Given the description of an element on the screen output the (x, y) to click on. 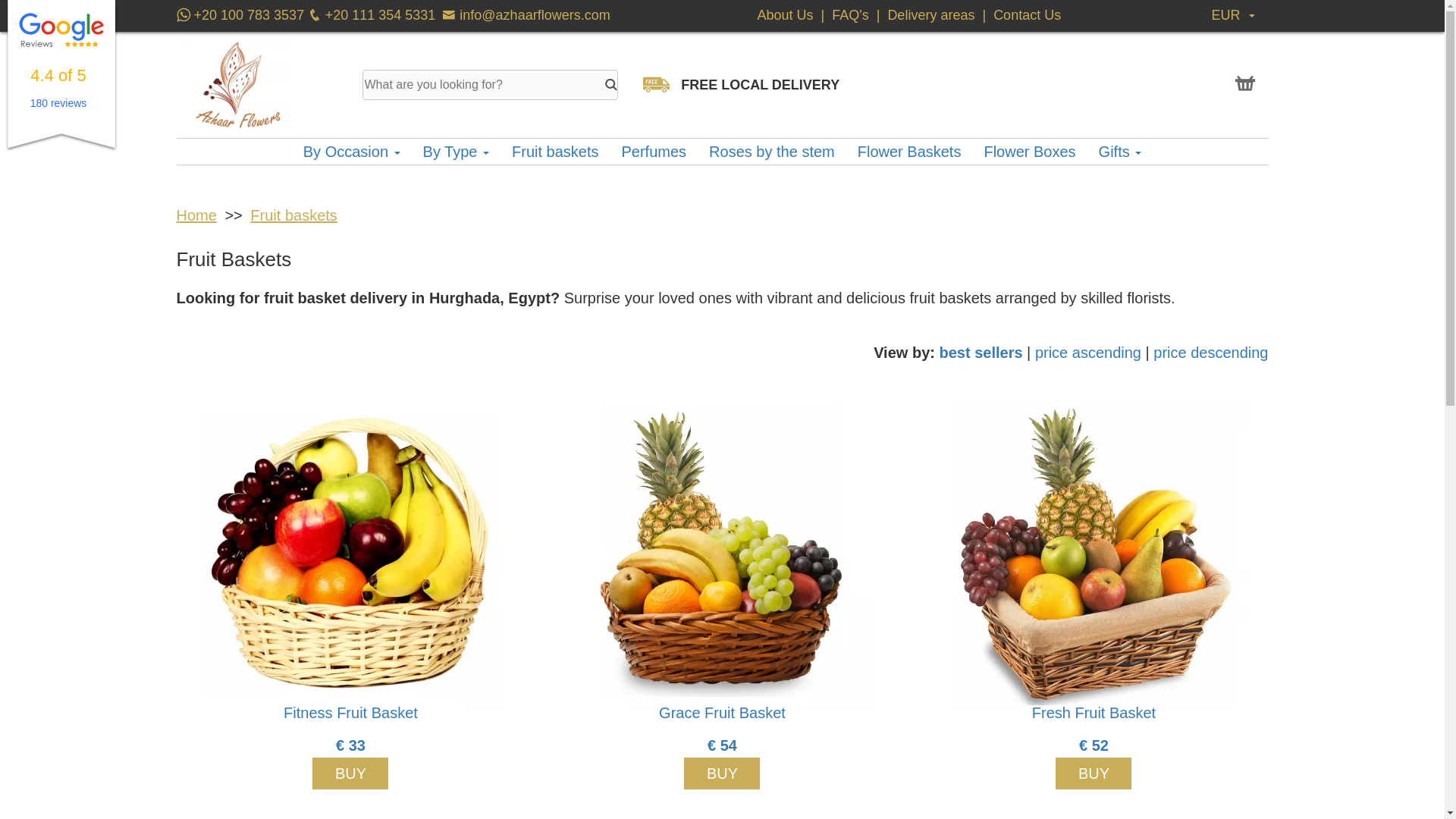
FAQ's (851, 14)
Delivery areas (930, 14)
Fitness Fruit Basket (350, 553)
Grace Fruit Basket (721, 553)
Fresh Fruit Basket (1093, 553)
Contact Us (1026, 14)
About Us (786, 14)
